Given the description of an element on the screen output the (x, y) to click on. 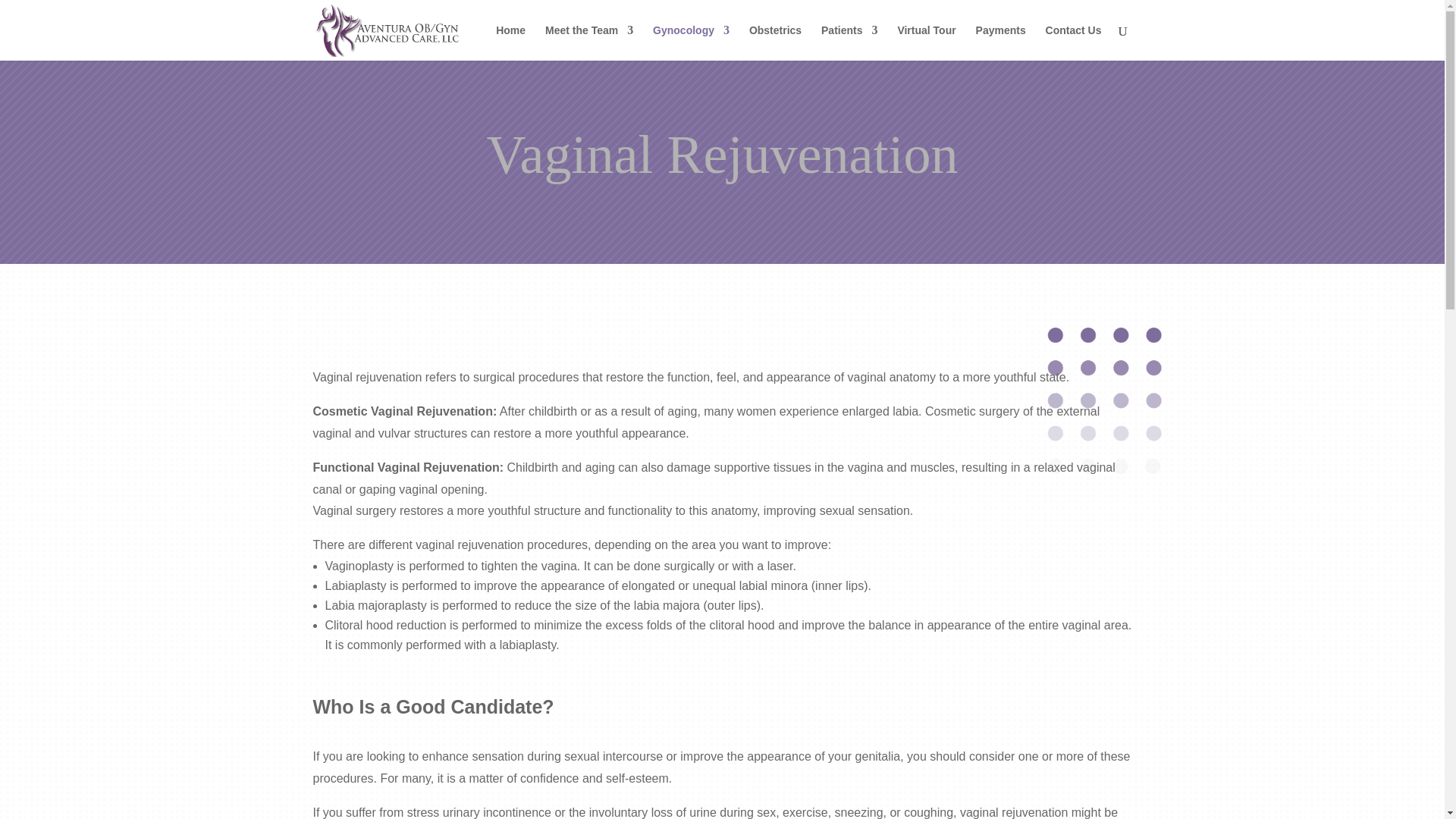
Patients (849, 42)
Meet the Team (588, 42)
Contact Us (1073, 42)
Payments (1000, 42)
Virtual Tour (925, 42)
Gynocology (690, 42)
Obstetrics (775, 42)
